Given the description of an element on the screen output the (x, y) to click on. 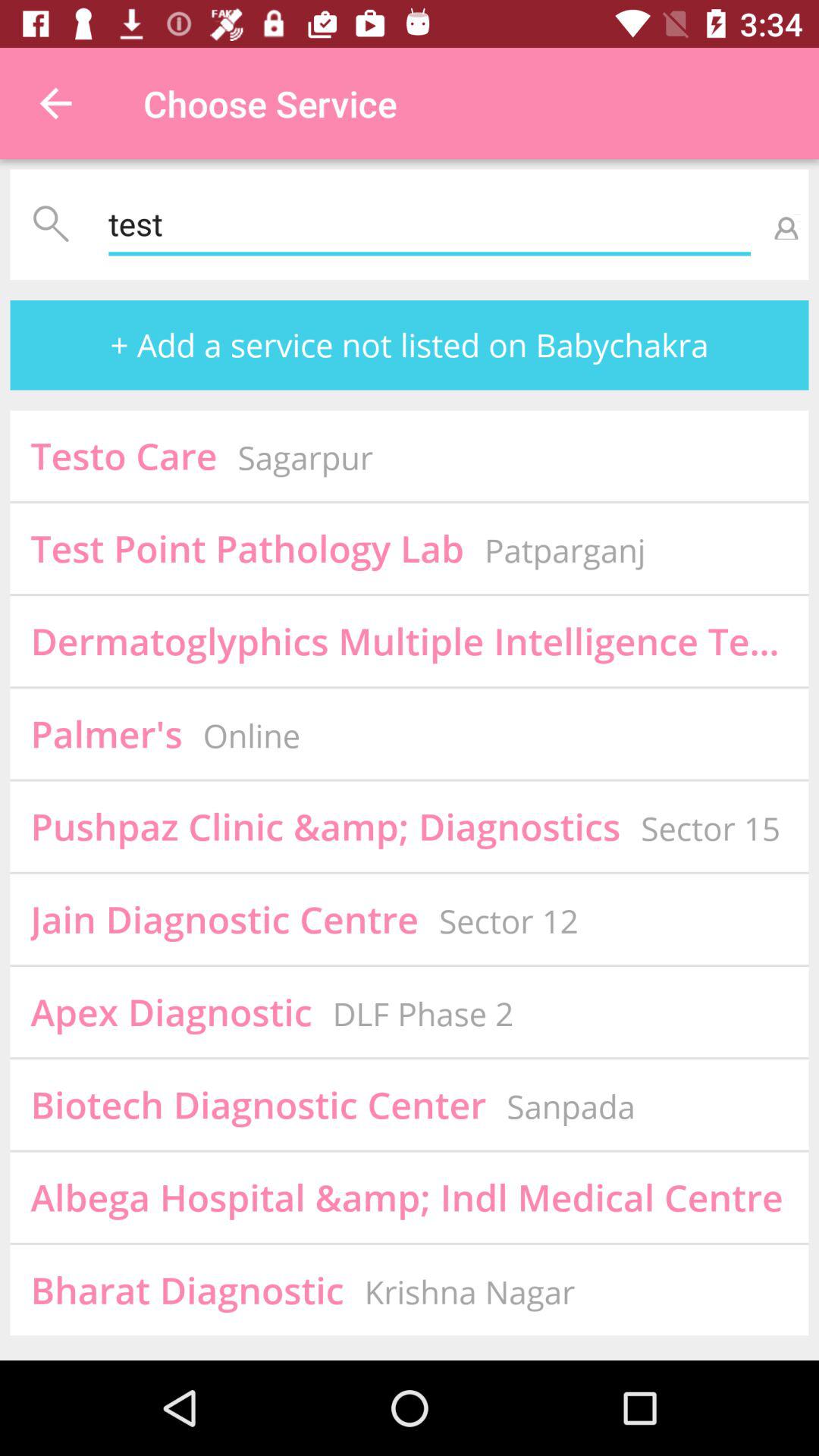
click item next to sector 15 (325, 826)
